Given the description of an element on the screen output the (x, y) to click on. 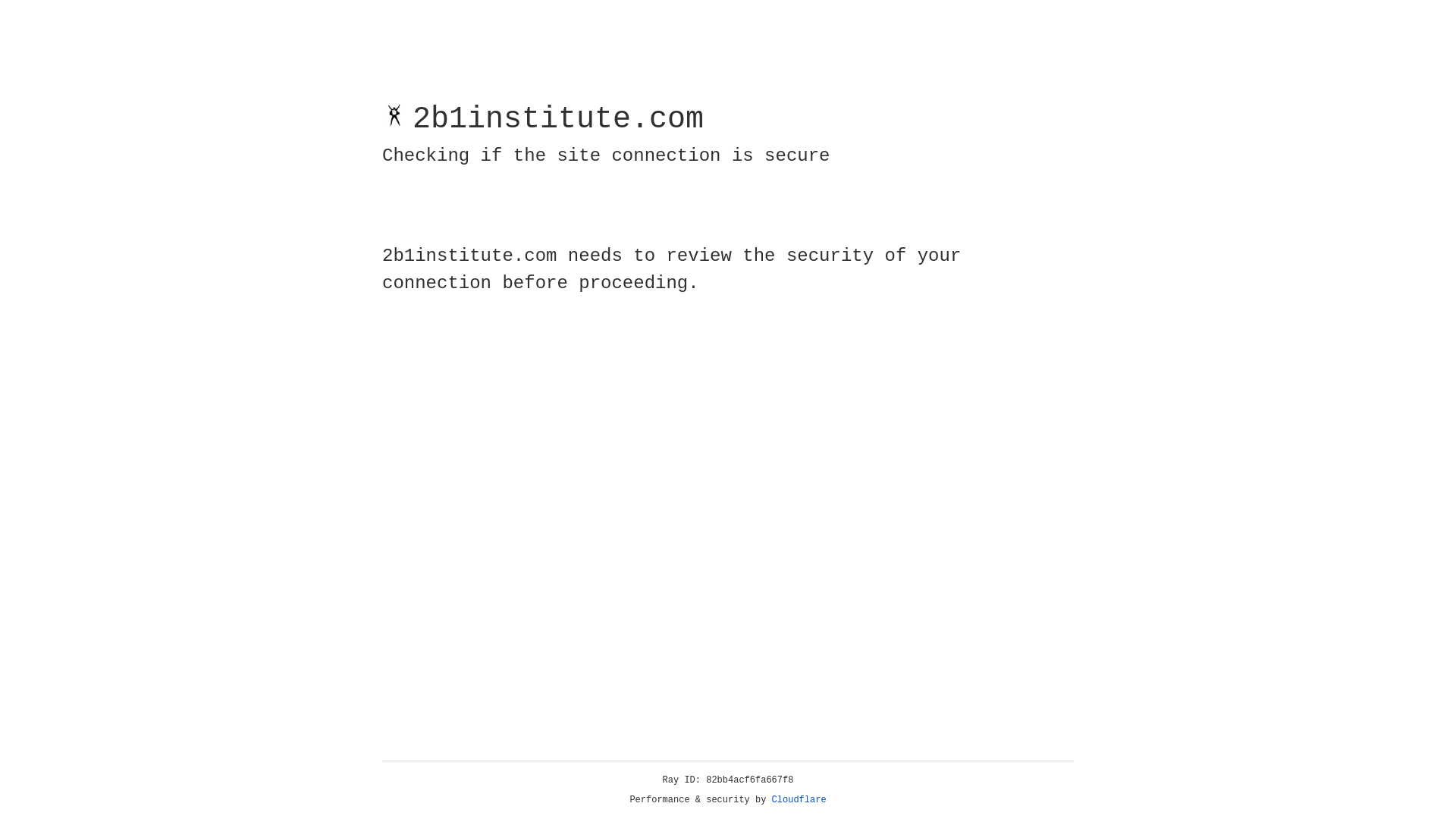
Cloudflare Element type: text (798, 799)
